Given the description of an element on the screen output the (x, y) to click on. 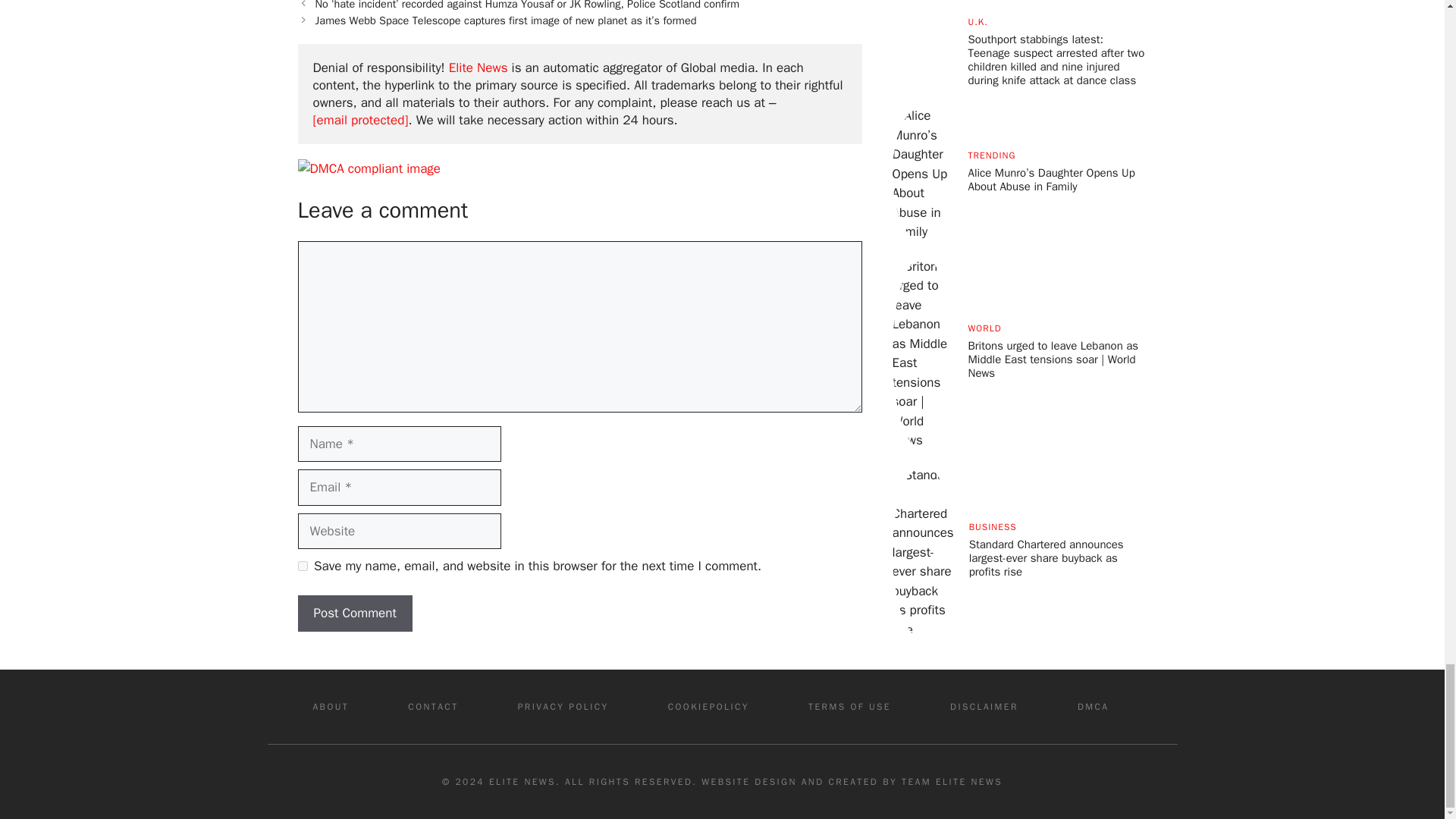
yes (302, 565)
Post Comment (354, 613)
